Given the description of an element on the screen output the (x, y) to click on. 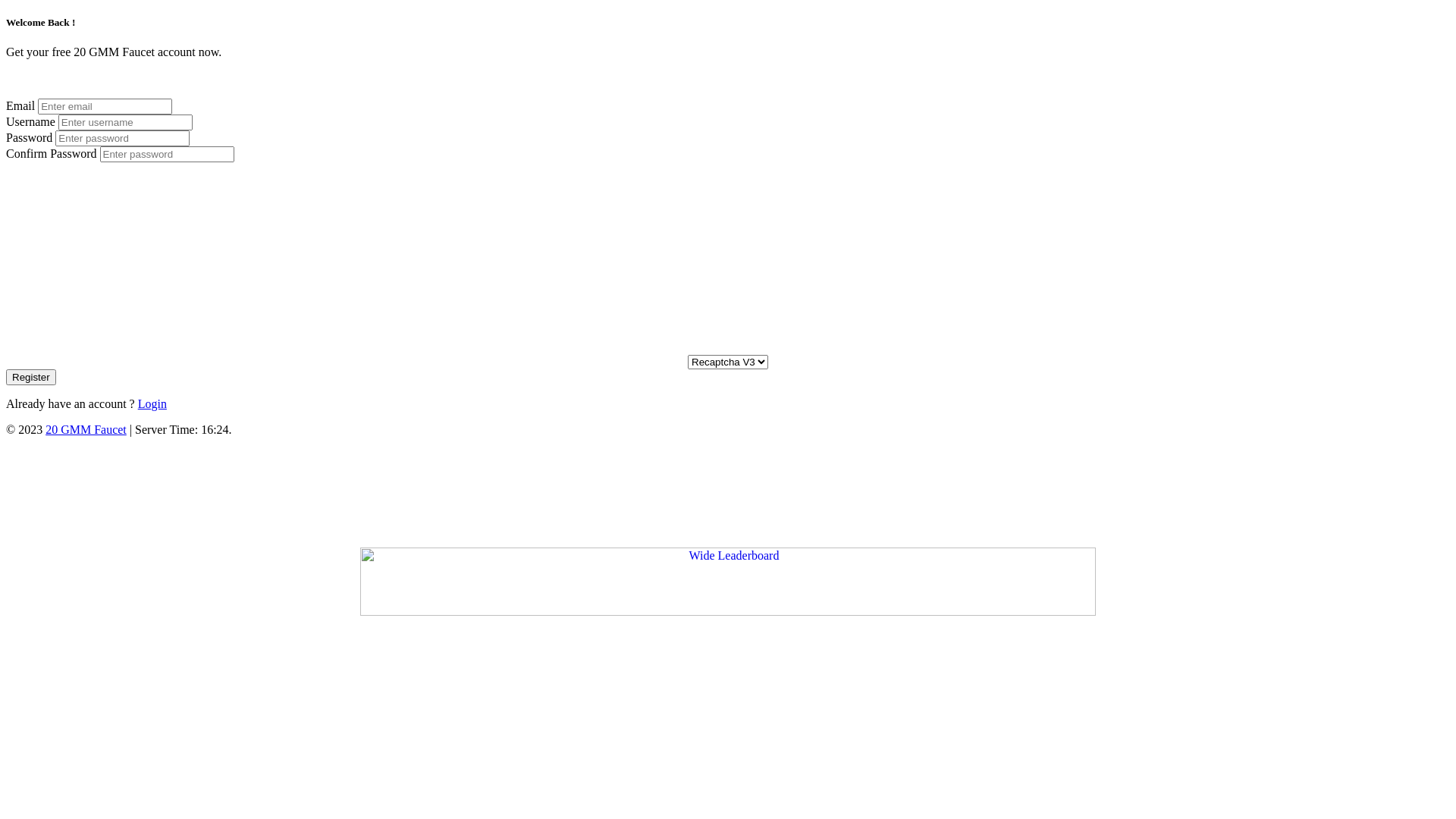
20 GMM Faucet Element type: text (85, 429)
Wide Leaderboard Element type: hover (727, 581)
Login Element type: text (152, 403)
Register Element type: text (31, 377)
